Given the description of an element on the screen output the (x, y) to click on. 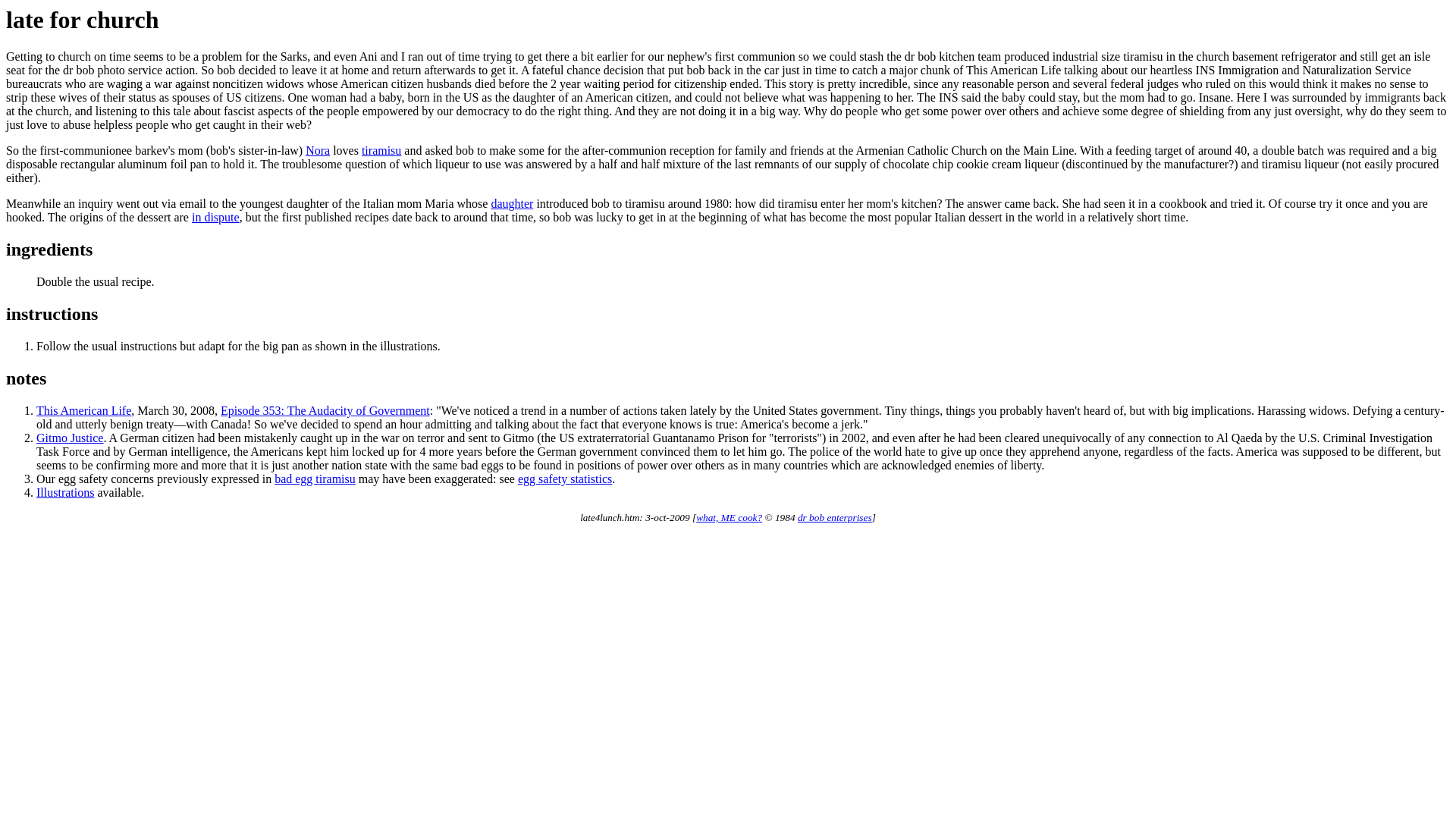
Gitmo Justice (69, 437)
tiramisu (381, 150)
egg safety statistics (564, 478)
Nora (317, 150)
in dispute (216, 216)
what, ME cook? (728, 517)
Episode 353: The Audacity of Government (325, 410)
daughter (511, 203)
Illustrations (65, 492)
bad egg tiramisu (315, 478)
